Given the description of an element on the screen output the (x, y) to click on. 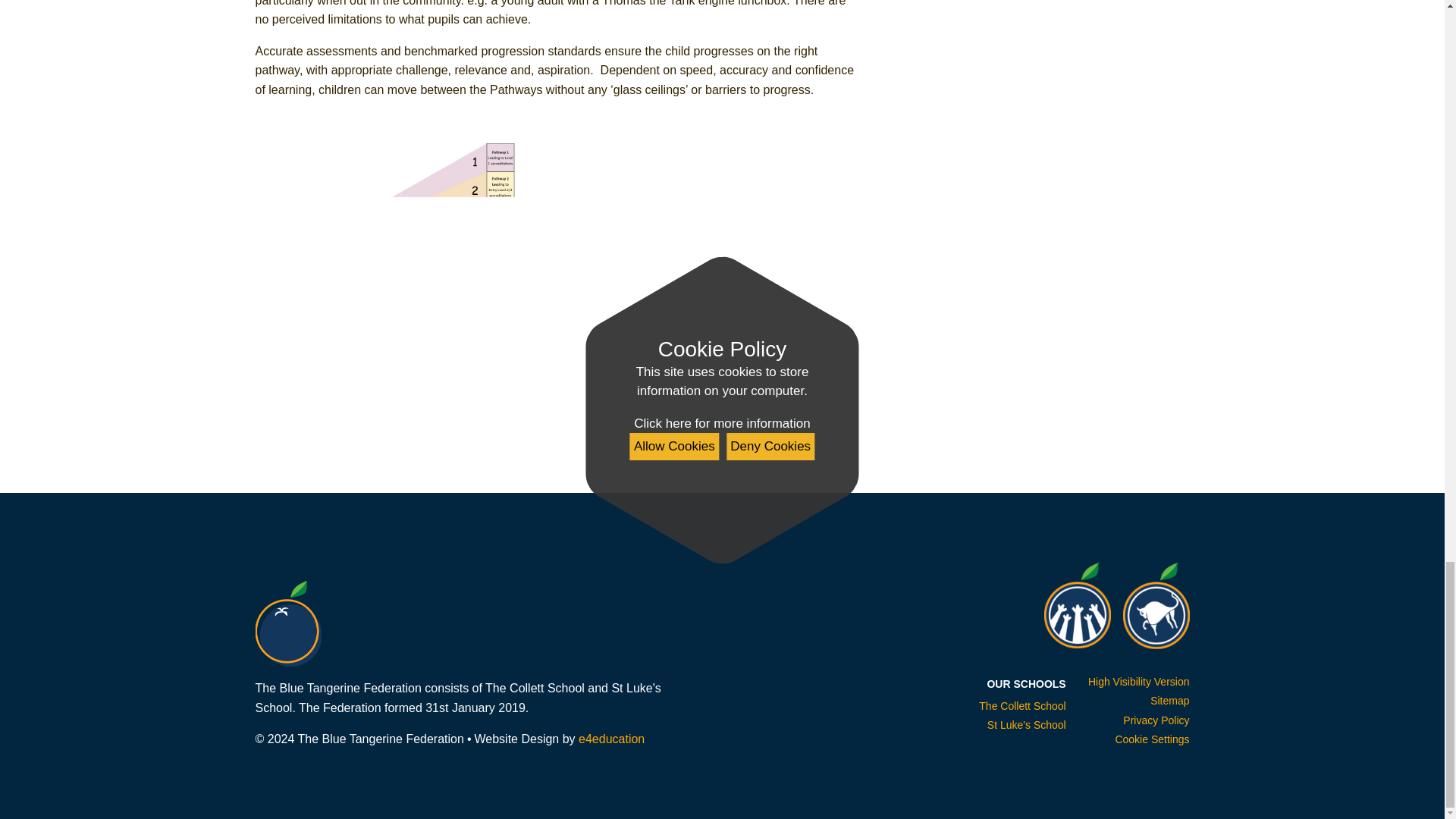
Cookie Settings (1152, 739)
